Given the description of an element on the screen output the (x, y) to click on. 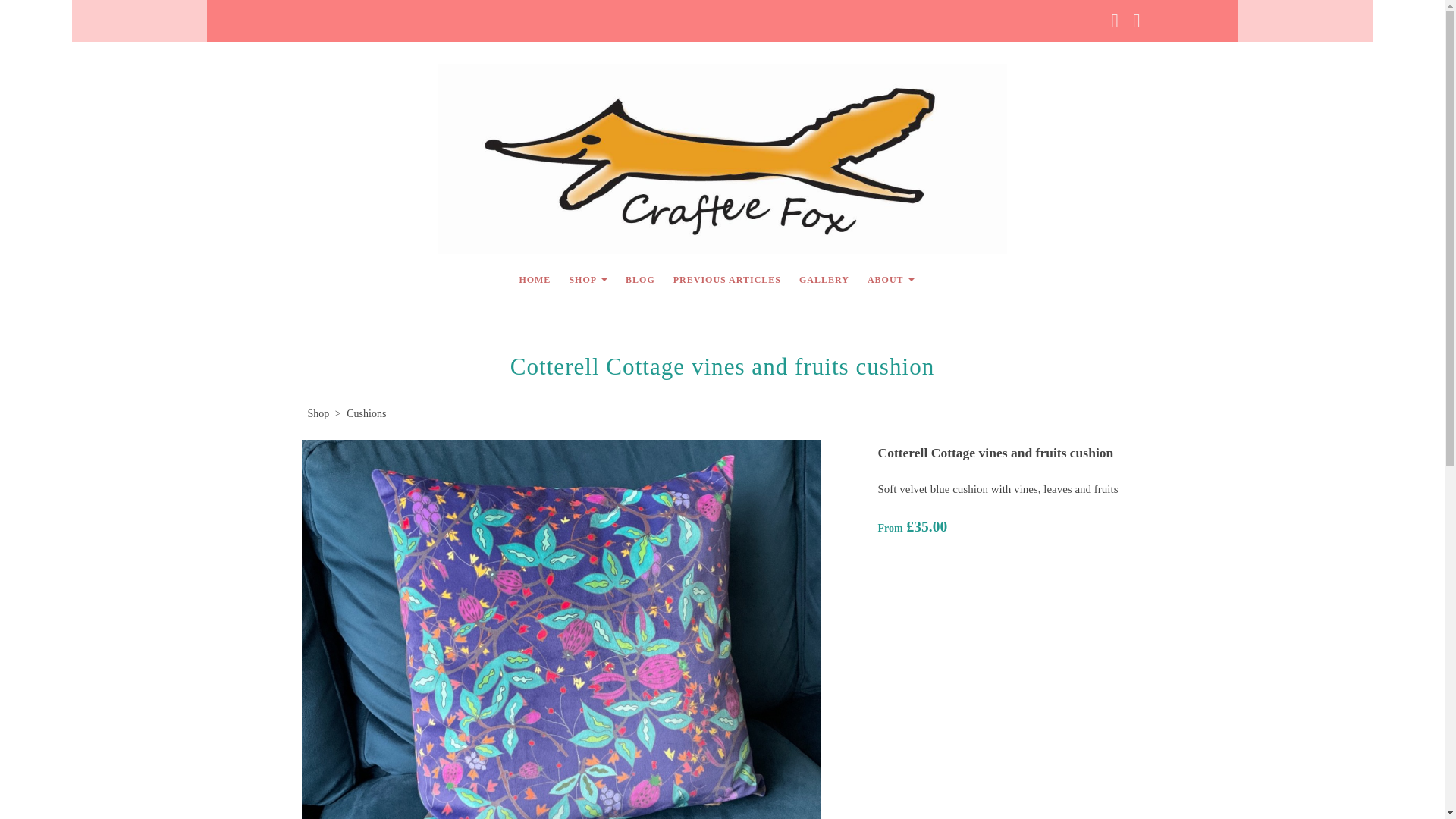
SHOP (587, 279)
BLOG (639, 279)
HOME (534, 279)
